Given the description of an element on the screen output the (x, y) to click on. 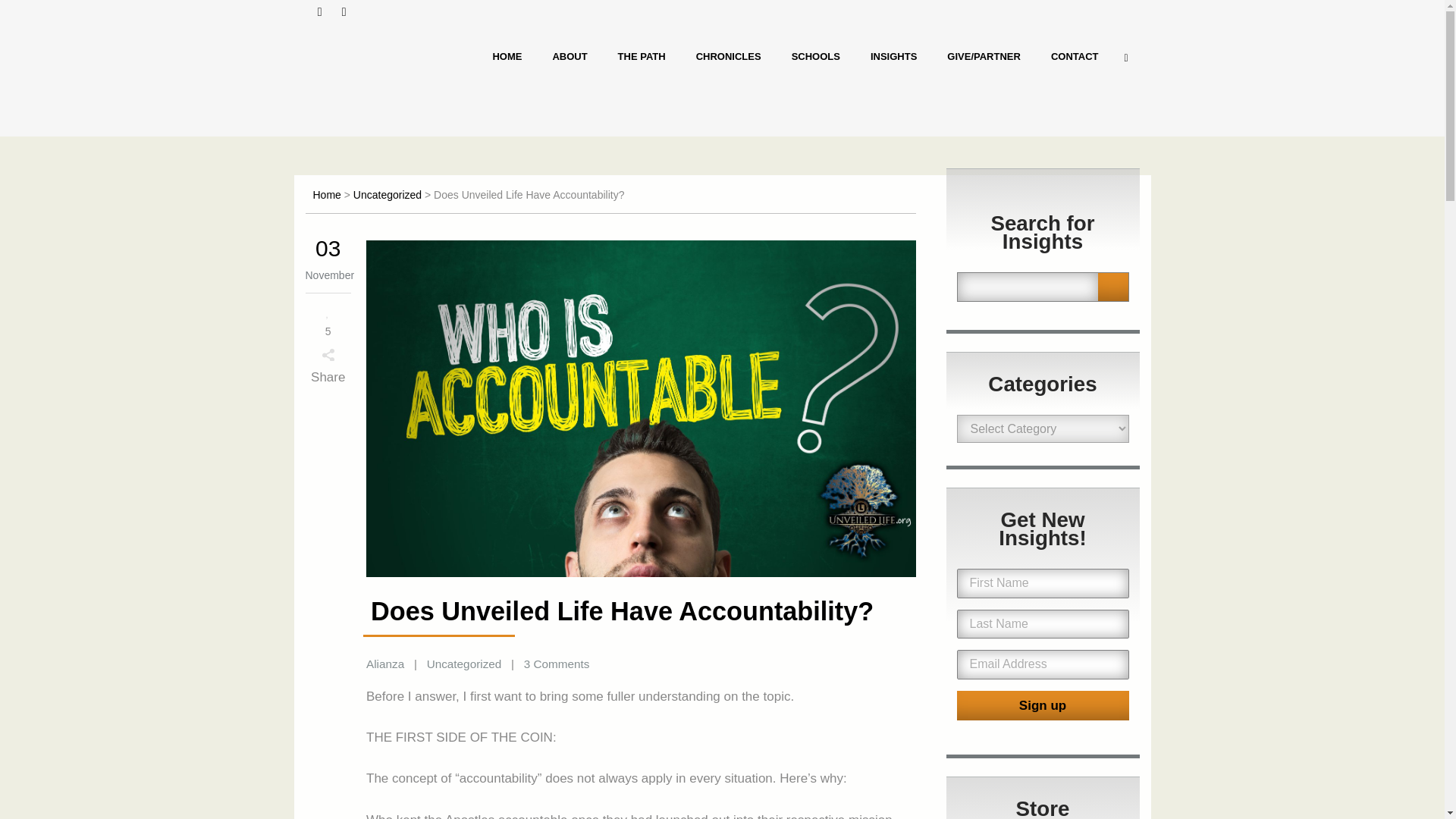
Go to Unveiled Life, LLC. (326, 194)
Search (1112, 286)
THE PATH (641, 56)
CHRONICLES (728, 56)
CONTACT (1074, 56)
INSIGHTS (893, 56)
ABOUT (569, 56)
Sign up (1042, 705)
Like this (327, 320)
